Given the description of an element on the screen output the (x, y) to click on. 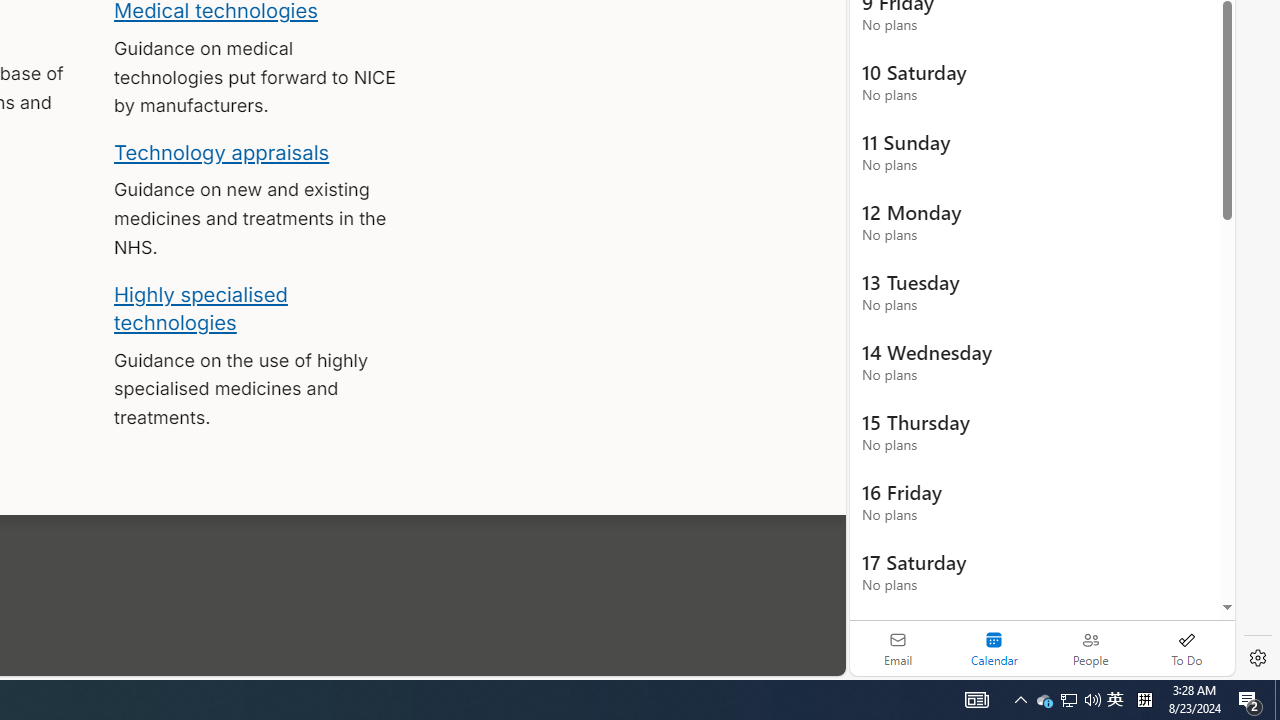
People (1090, 648)
Technology appraisals (221, 152)
Selected calendar module. Date today is 22 (994, 648)
Email (898, 648)
To Do (1186, 648)
Highly specialised technologies (200, 308)
